Given the description of an element on the screen output the (x, y) to click on. 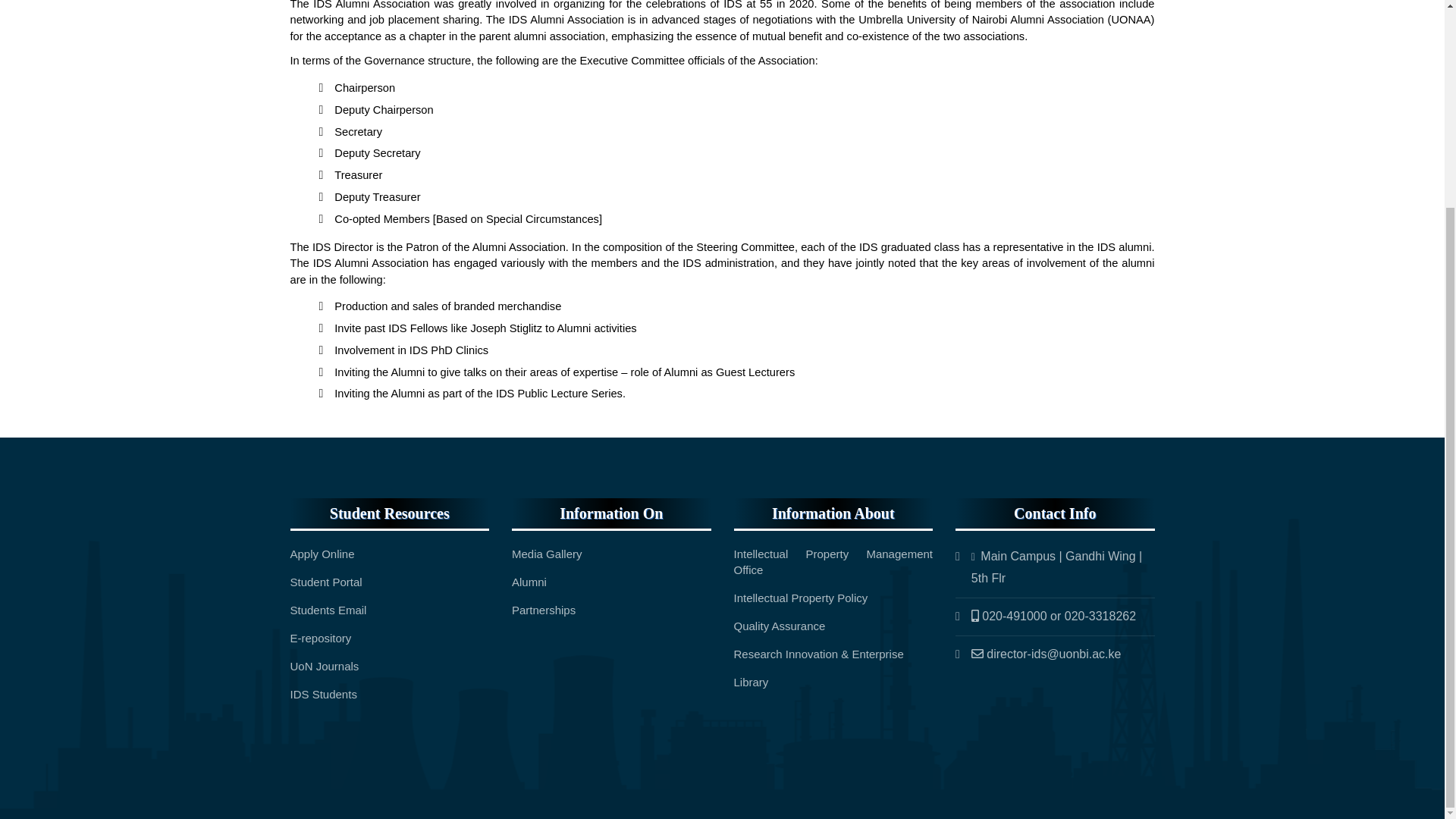
IDS Students (322, 694)
IPMO Policy (800, 597)
IPMO (833, 561)
DVC RIE (818, 653)
UoN Journals (323, 666)
Quality Assurance (779, 625)
Research Publications in Repository (321, 637)
